Given the description of an element on the screen output the (x, y) to click on. 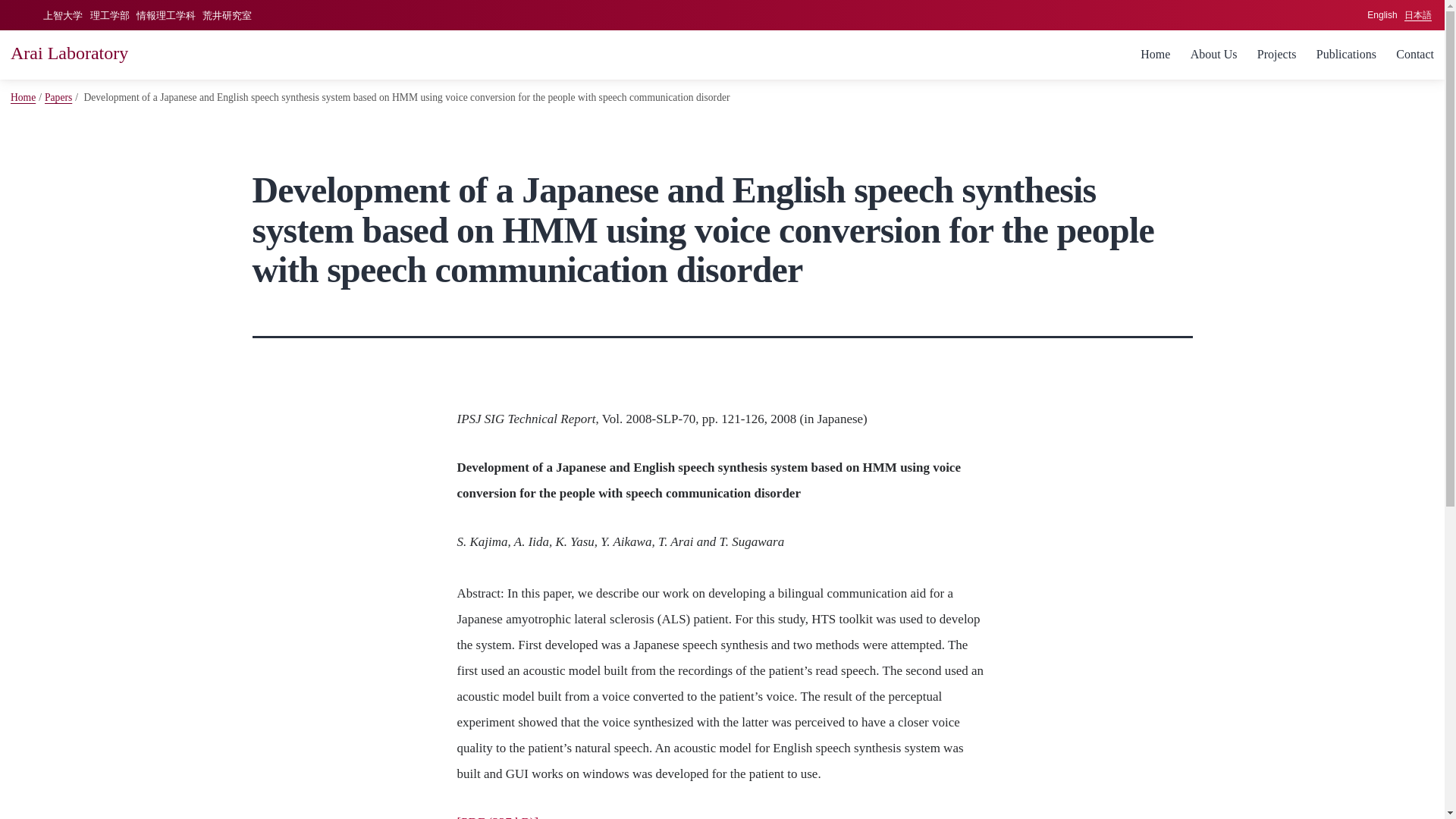
Arai Laboratory (69, 53)
English (1381, 14)
Papers (58, 97)
Papers (58, 97)
Home (1155, 54)
Contact (1415, 54)
Home (22, 97)
About Us (1212, 54)
Projects (1276, 54)
